Given the description of an element on the screen output the (x, y) to click on. 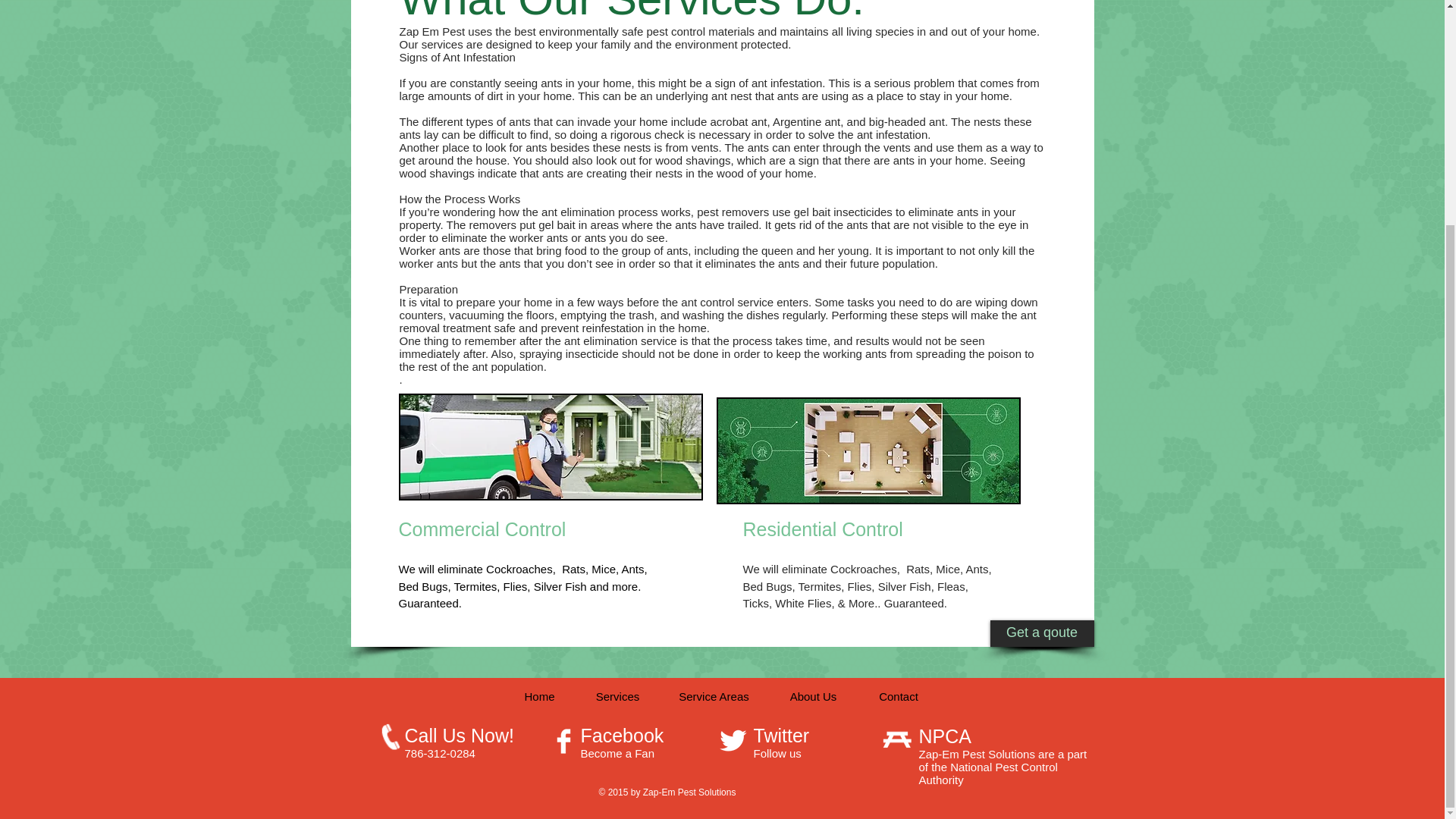
Twitter (781, 735)
Get a qoute (1042, 633)
About Us (813, 695)
Service Areas (713, 695)
Home (539, 695)
Contact (899, 695)
Services (617, 695)
Facebook (621, 735)
